Given the description of an element on the screen output the (x, y) to click on. 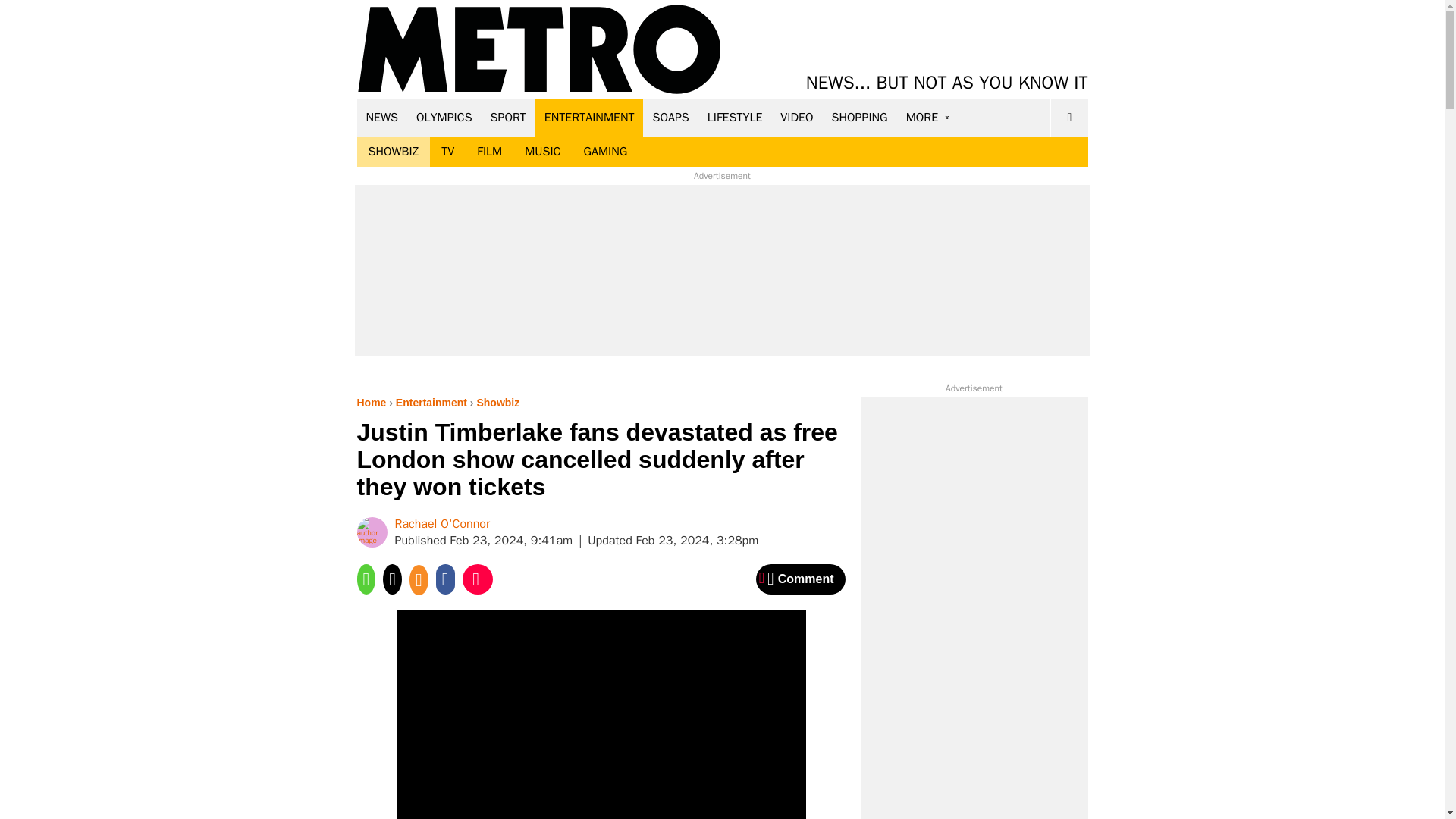
ENTERTAINMENT (589, 117)
Metro (539, 50)
FILM (489, 151)
SOAPS (670, 117)
NEWS (381, 117)
LIFESTYLE (734, 117)
GAMING (605, 151)
OLYMPICS (444, 117)
SPORT (508, 117)
MUSIC (542, 151)
SHOWBIZ (392, 151)
TV (447, 151)
